Given the description of an element on the screen output the (x, y) to click on. 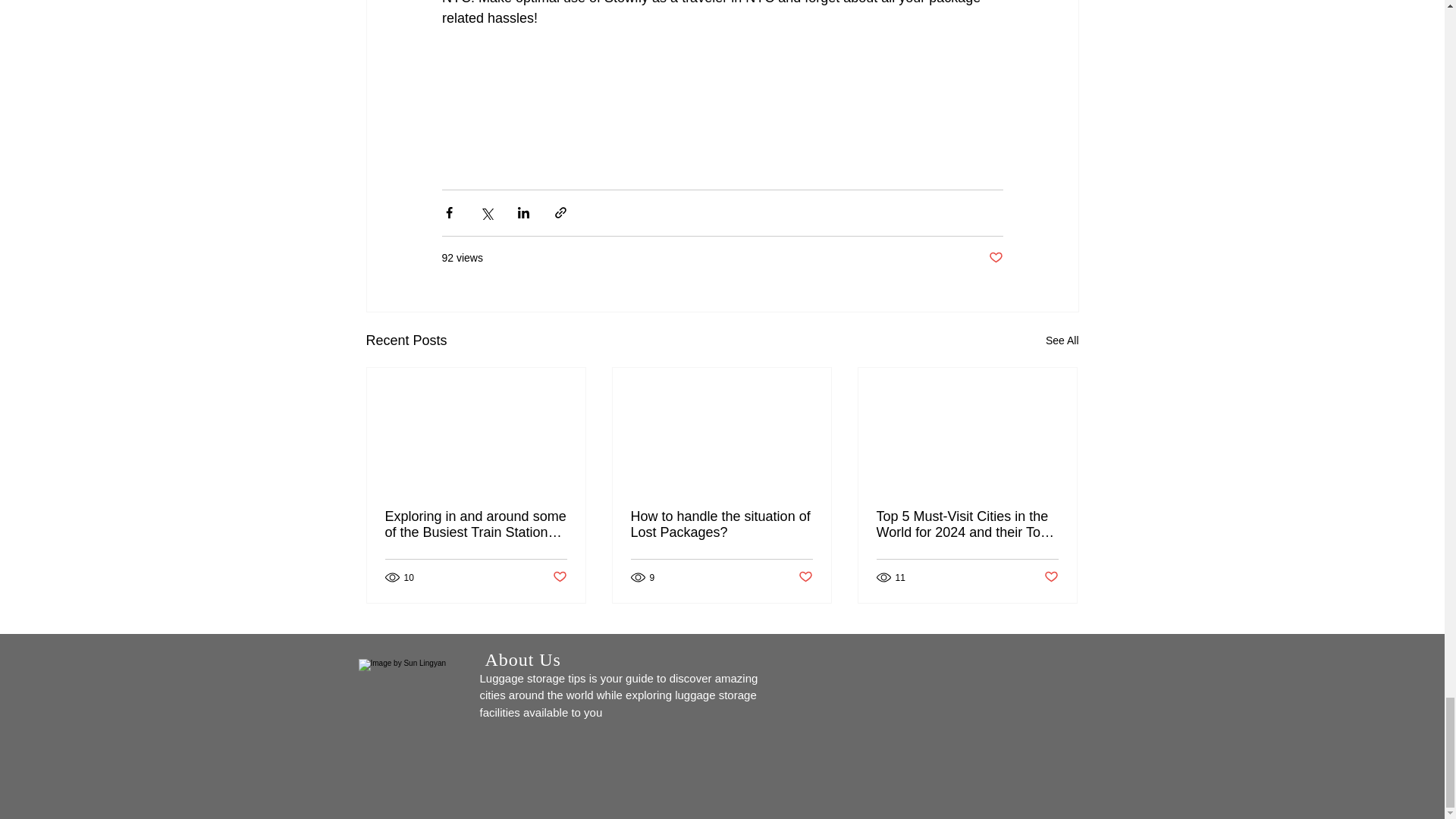
Post not marked as liked (558, 577)
See All (1061, 341)
Post not marked as liked (1050, 577)
Post not marked as liked (804, 577)
How to handle the situation of Lost Packages? (721, 524)
Post not marked as liked (995, 258)
